Given the description of an element on the screen output the (x, y) to click on. 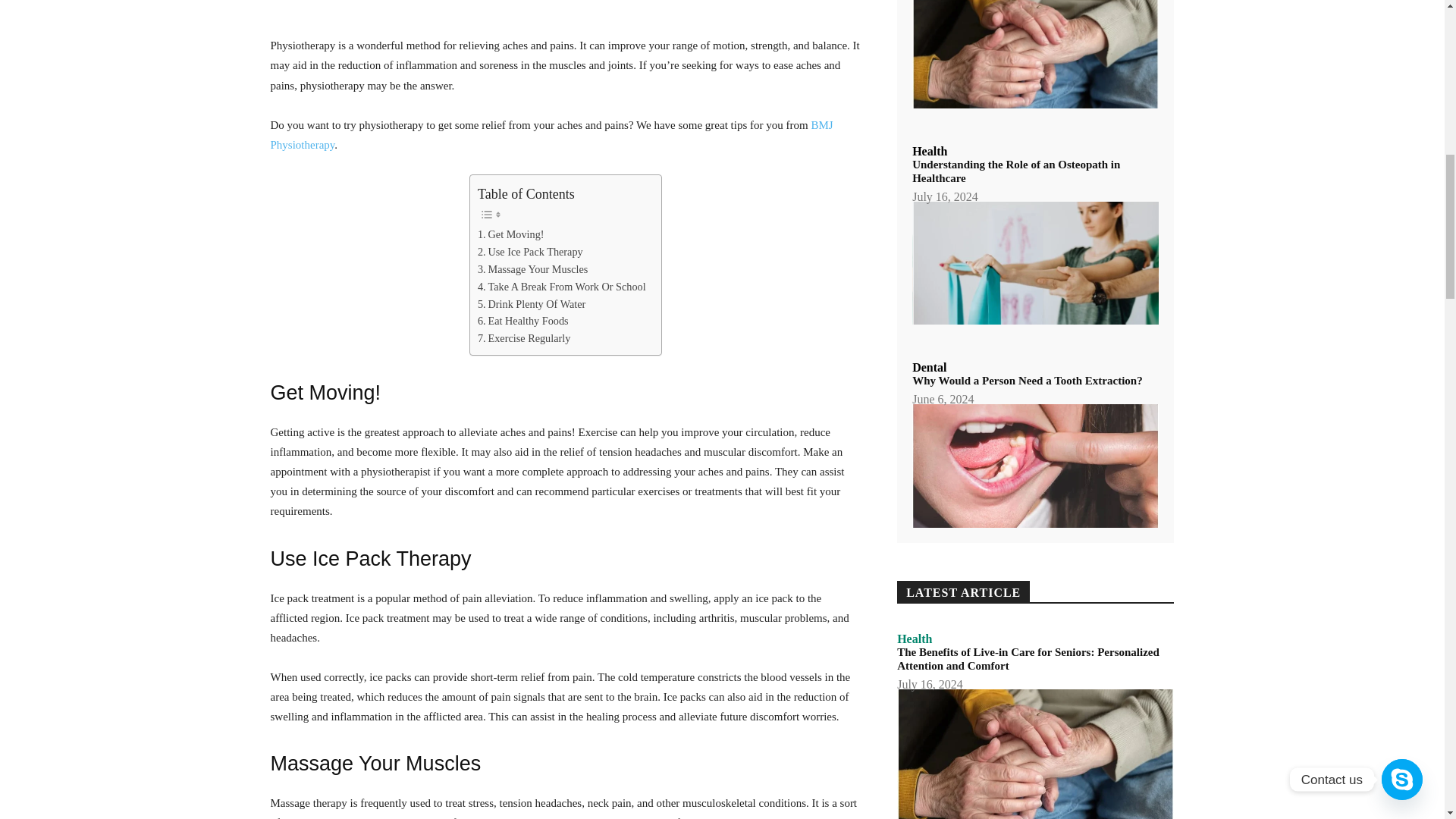
Get Moving! (510, 234)
